Given the description of an element on the screen output the (x, y) to click on. 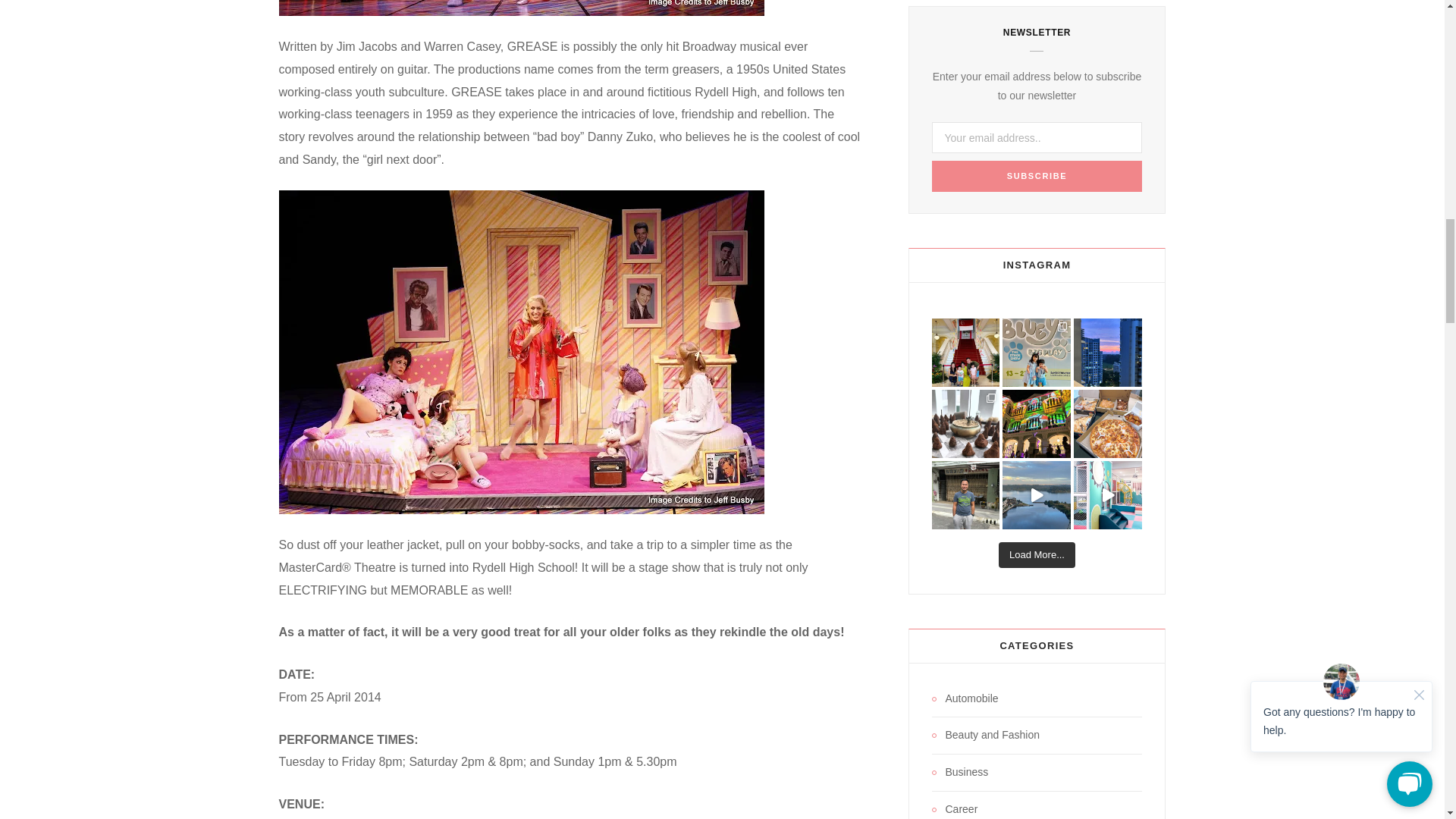
Subscribe (1036, 175)
